Given the description of an element on the screen output the (x, y) to click on. 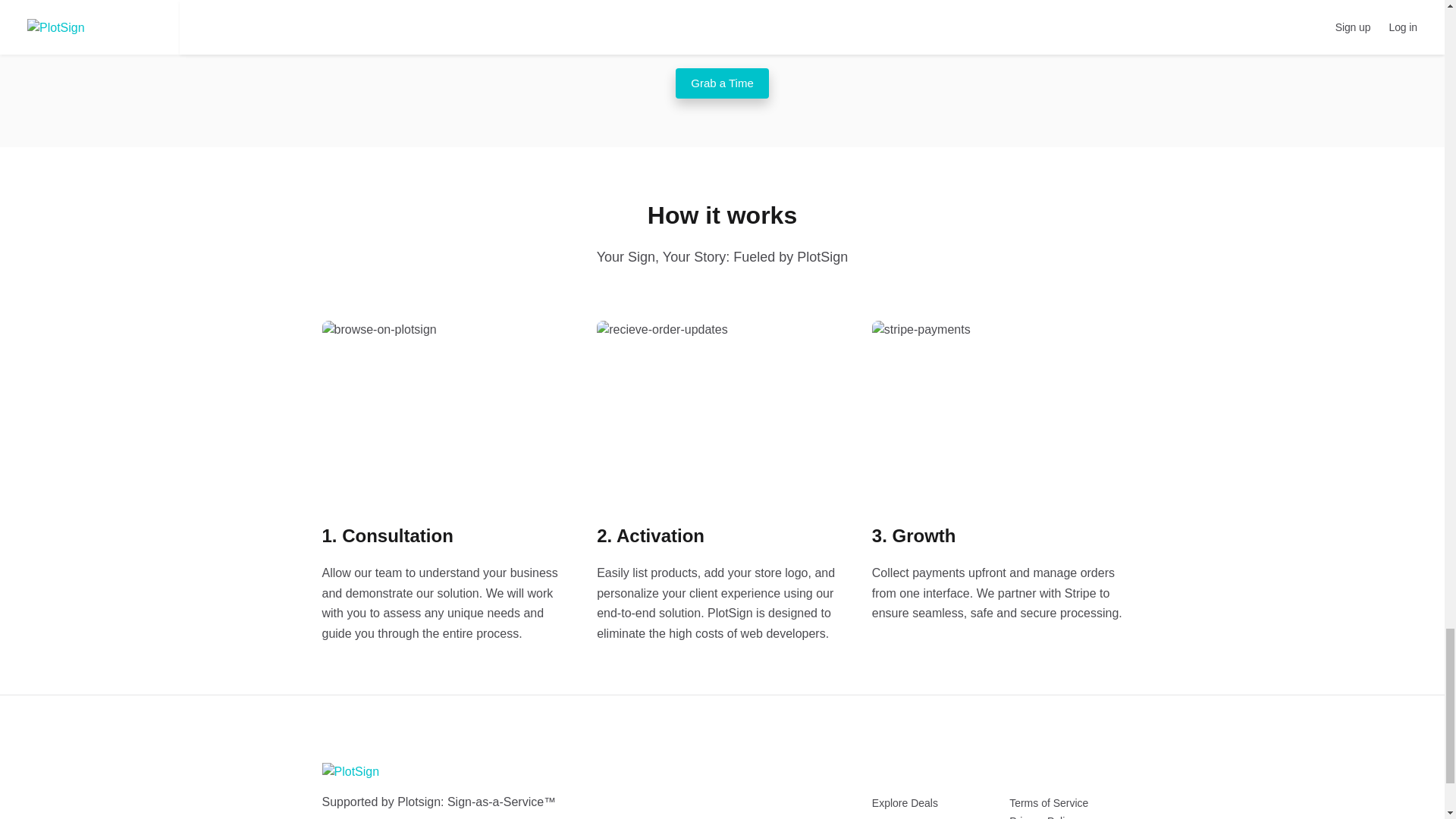
Grab a Time (721, 82)
Explore Deals (904, 802)
Privacy Policy (1042, 816)
Facebook (329, 815)
X (353, 815)
LinkedIn (383, 815)
Terms of Service (1048, 802)
